Given the description of an element on the screen output the (x, y) to click on. 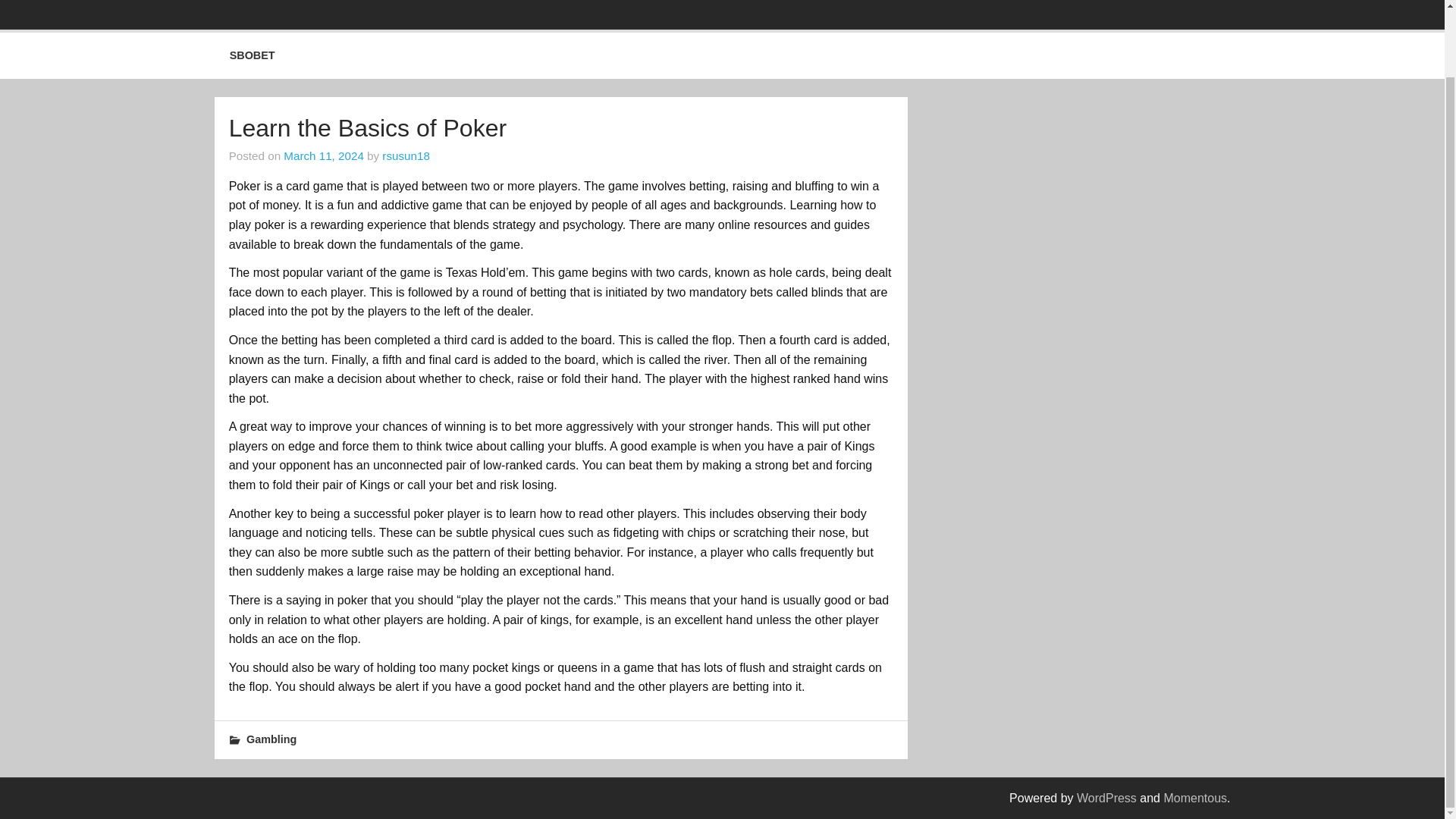
WordPress (1107, 797)
rsusun18 (405, 155)
View all posts by rsusun18 (405, 155)
Momentous WordPress Theme (1195, 797)
Gambling (271, 739)
Momentous (1195, 797)
12:17 pm (323, 155)
March 11, 2024 (323, 155)
SBOBET (251, 54)
WordPress (1107, 797)
